Given the description of an element on the screen output the (x, y) to click on. 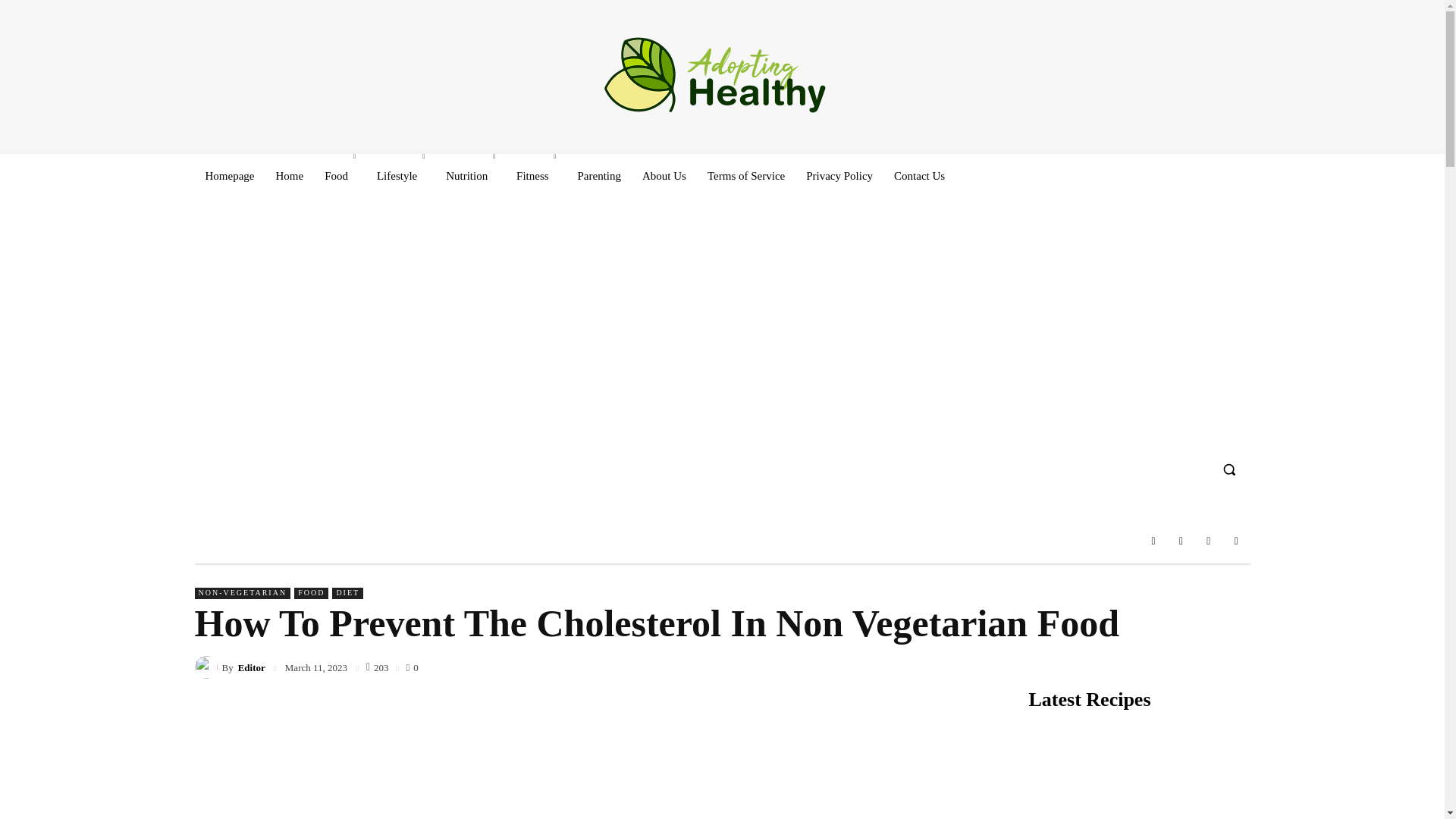
Instagram (1180, 549)
Homepage (228, 175)
Youtube (1236, 549)
Home (289, 175)
VKontakte (1209, 549)
Facebook (1153, 549)
